Given the description of an element on the screen output the (x, y) to click on. 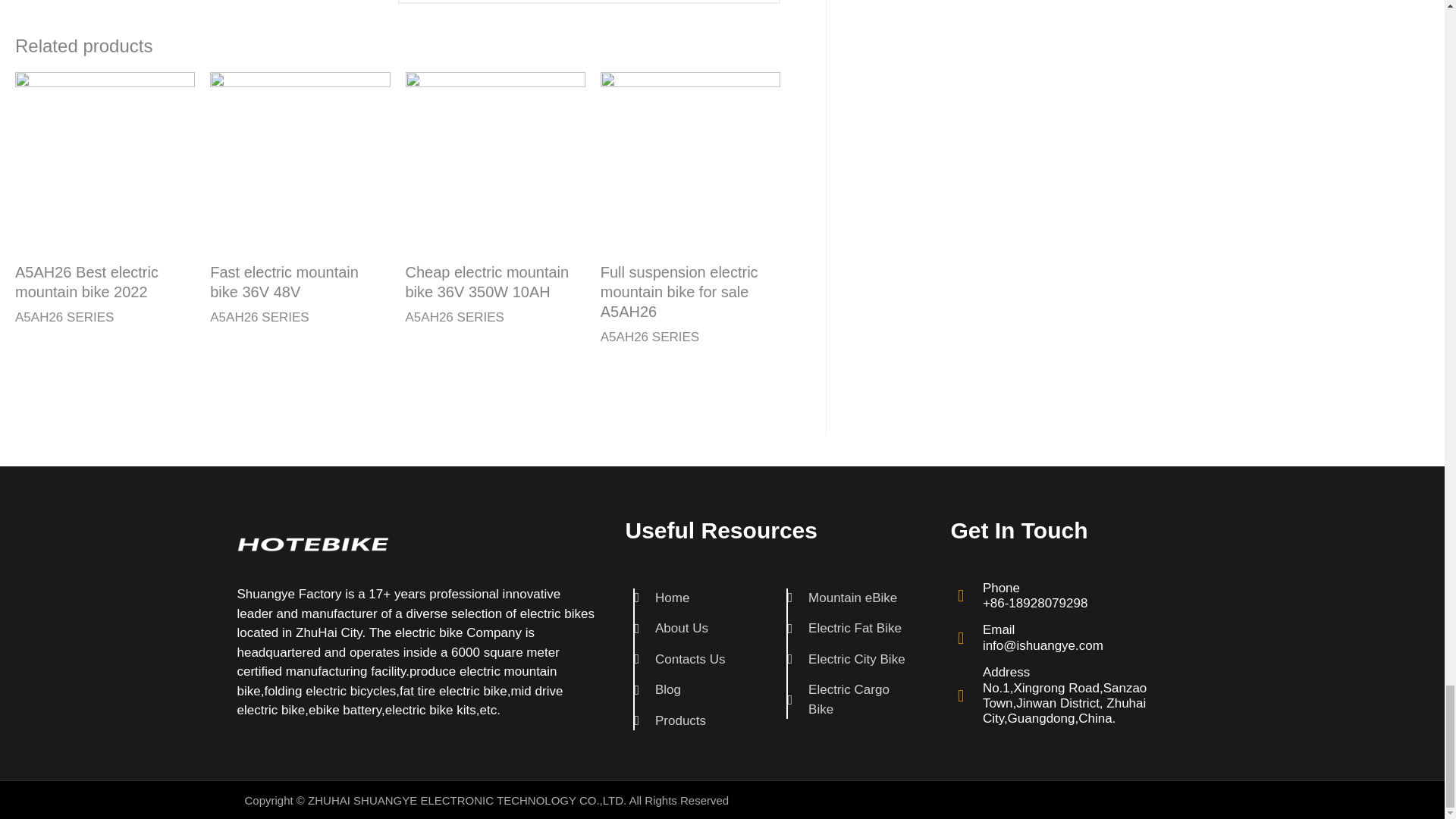
A5AH26 Best electric mountain bike 2022 (104, 282)
Cheap electric mountain bike 36V 350W 10AH (494, 282)
Fast electric mountain bike 36V 48V (299, 282)
Full suspension electric mountain bike for sale A5AH26 (689, 291)
